Given the description of an element on the screen output the (x, y) to click on. 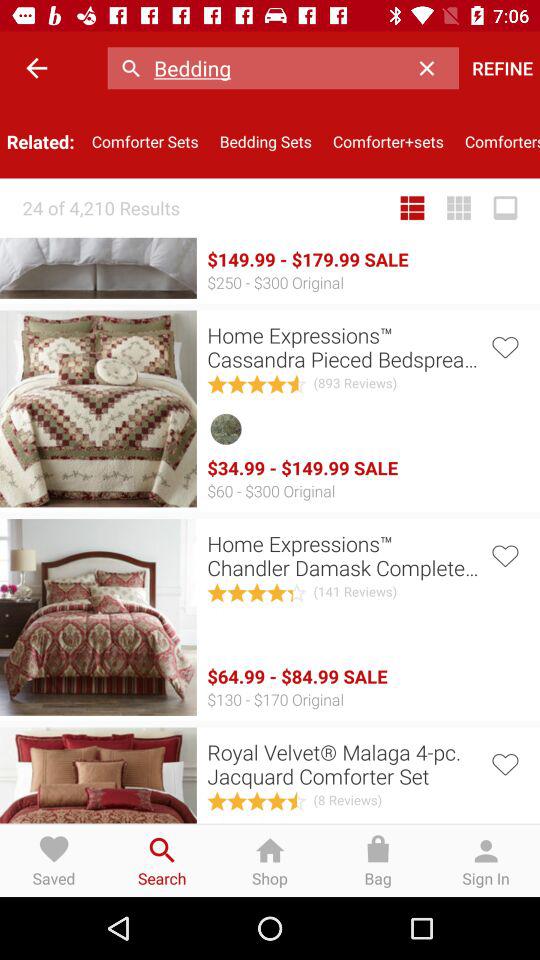
tap the item above the comforter+sets item (432, 67)
